Given the description of an element on the screen output the (x, y) to click on. 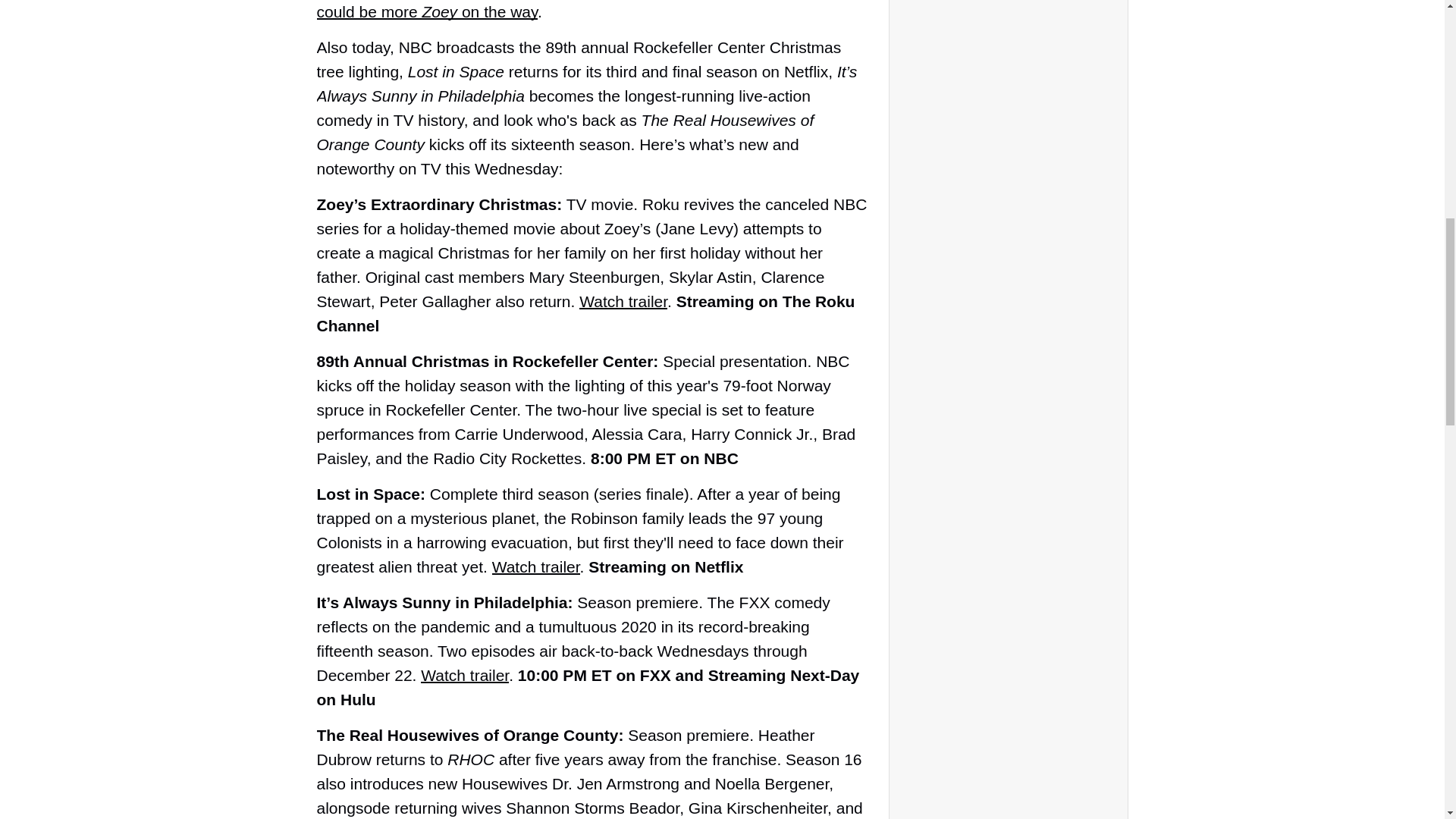
Watch trailer (535, 566)
Watch trailer (622, 301)
Watch trailer (464, 674)
there could be more Zoey on the way (578, 10)
